Given the description of an element on the screen output the (x, y) to click on. 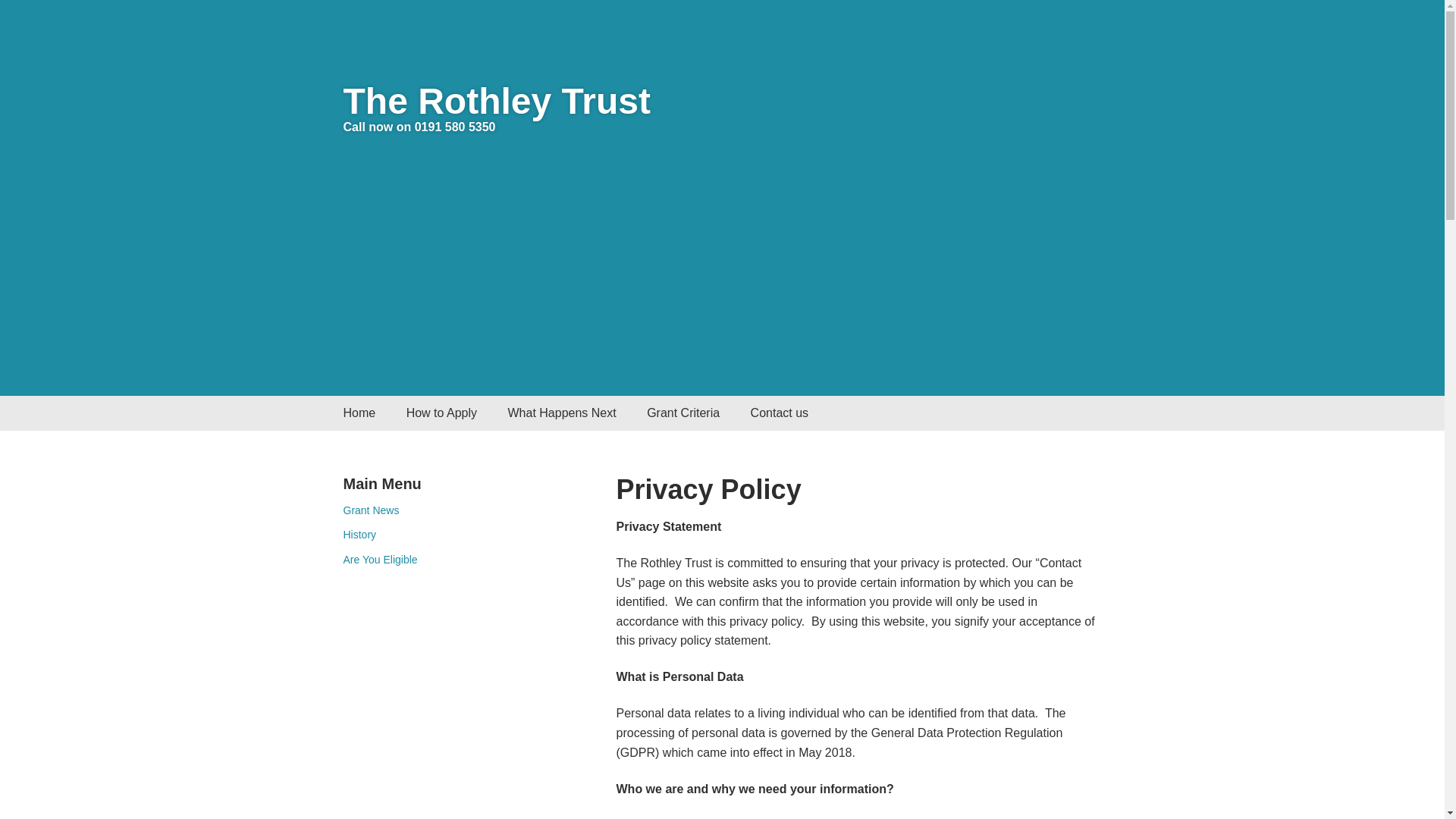
The Rothley Trust (495, 101)
Are You Eligible (379, 559)
Home (358, 412)
How to Apply (441, 412)
Grant Criteria (683, 412)
Grant News (370, 509)
Contact us (779, 412)
The Rothley Trust (495, 101)
History (358, 534)
What Happens Next (561, 412)
